Given the description of an element on the screen output the (x, y) to click on. 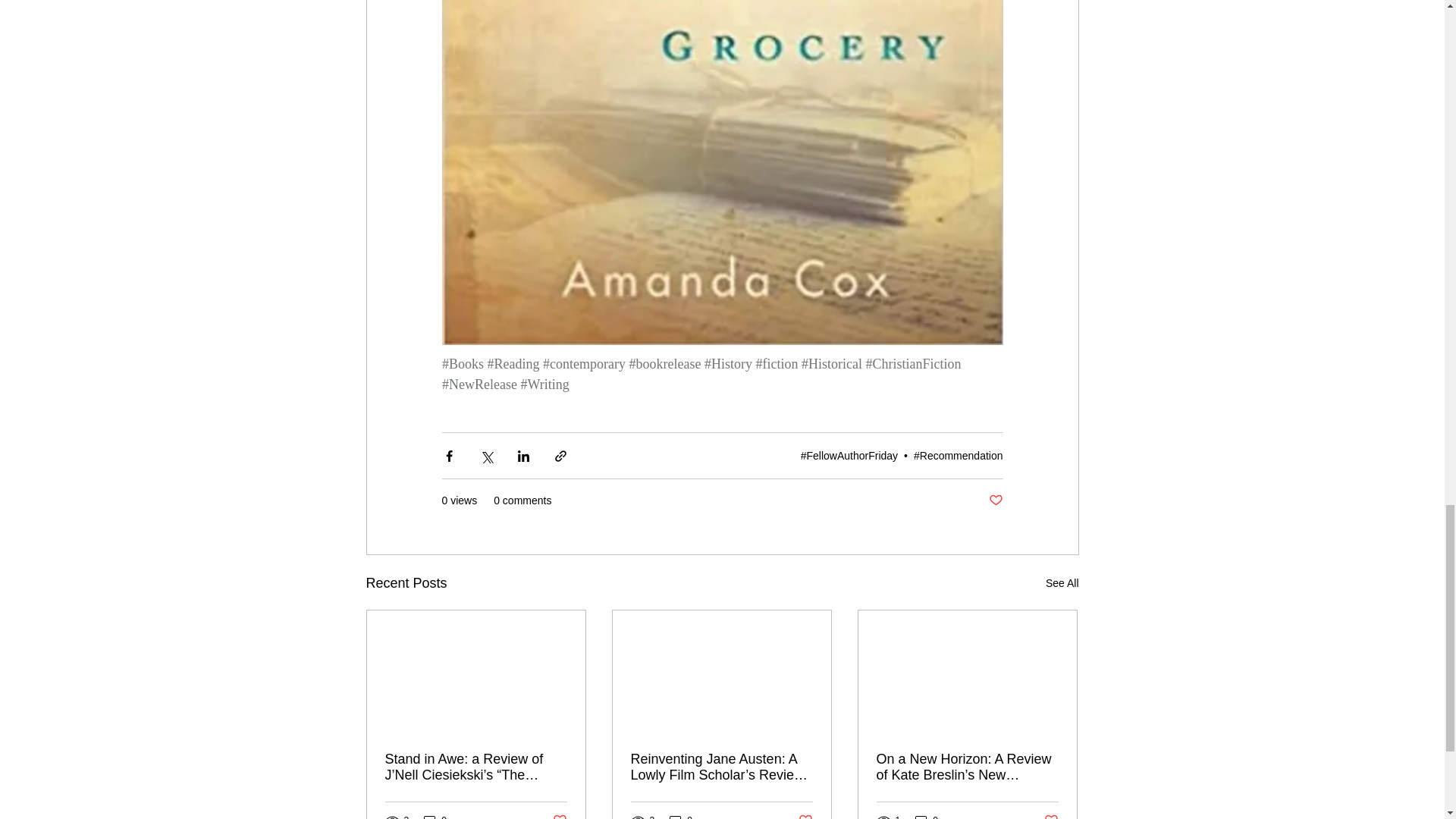
See All (1061, 583)
Post not marked as liked (995, 500)
